Given the description of an element on the screen output the (x, y) to click on. 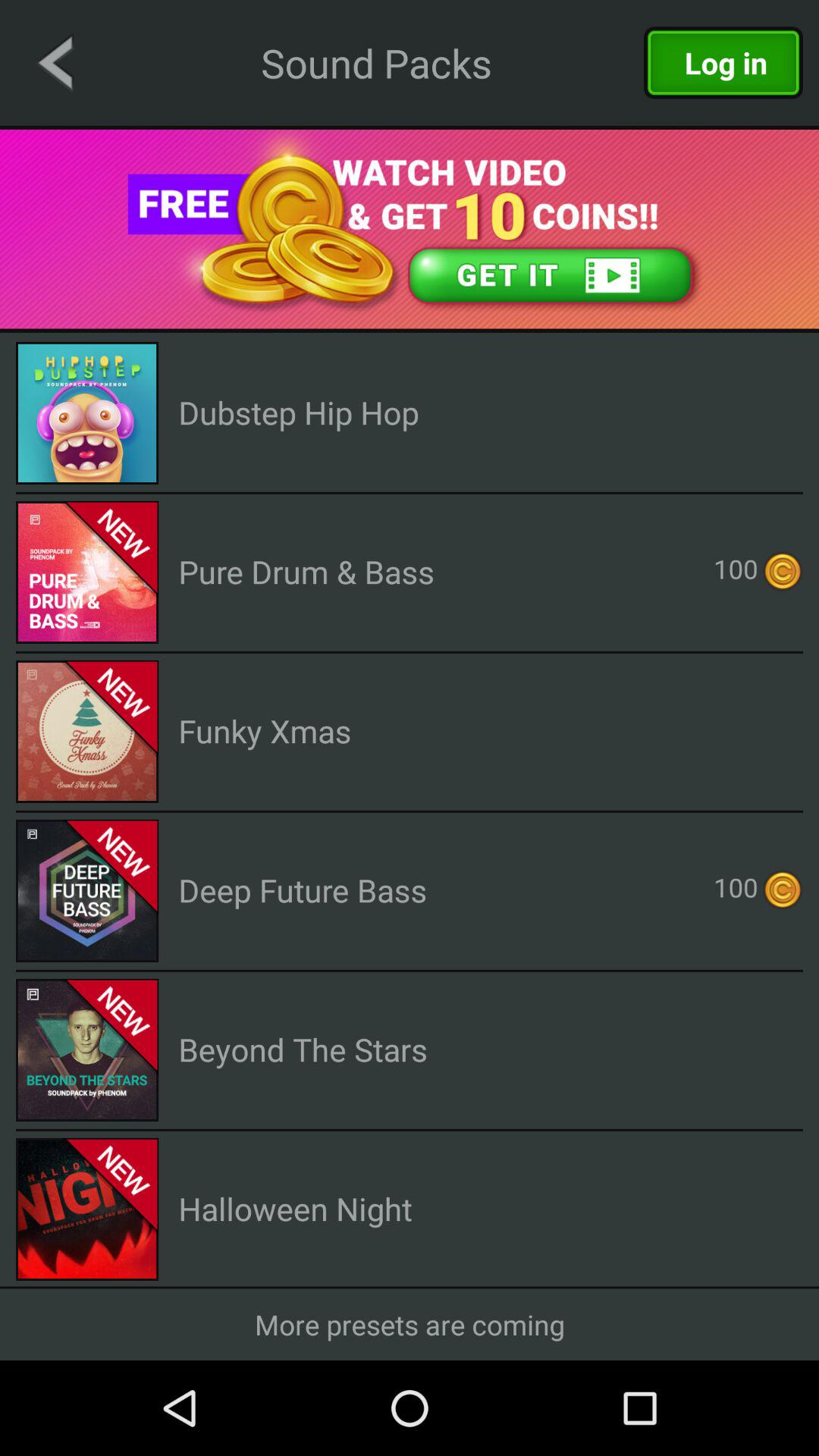
swipe to pure drum & bass app (306, 571)
